Given the description of an element on the screen output the (x, y) to click on. 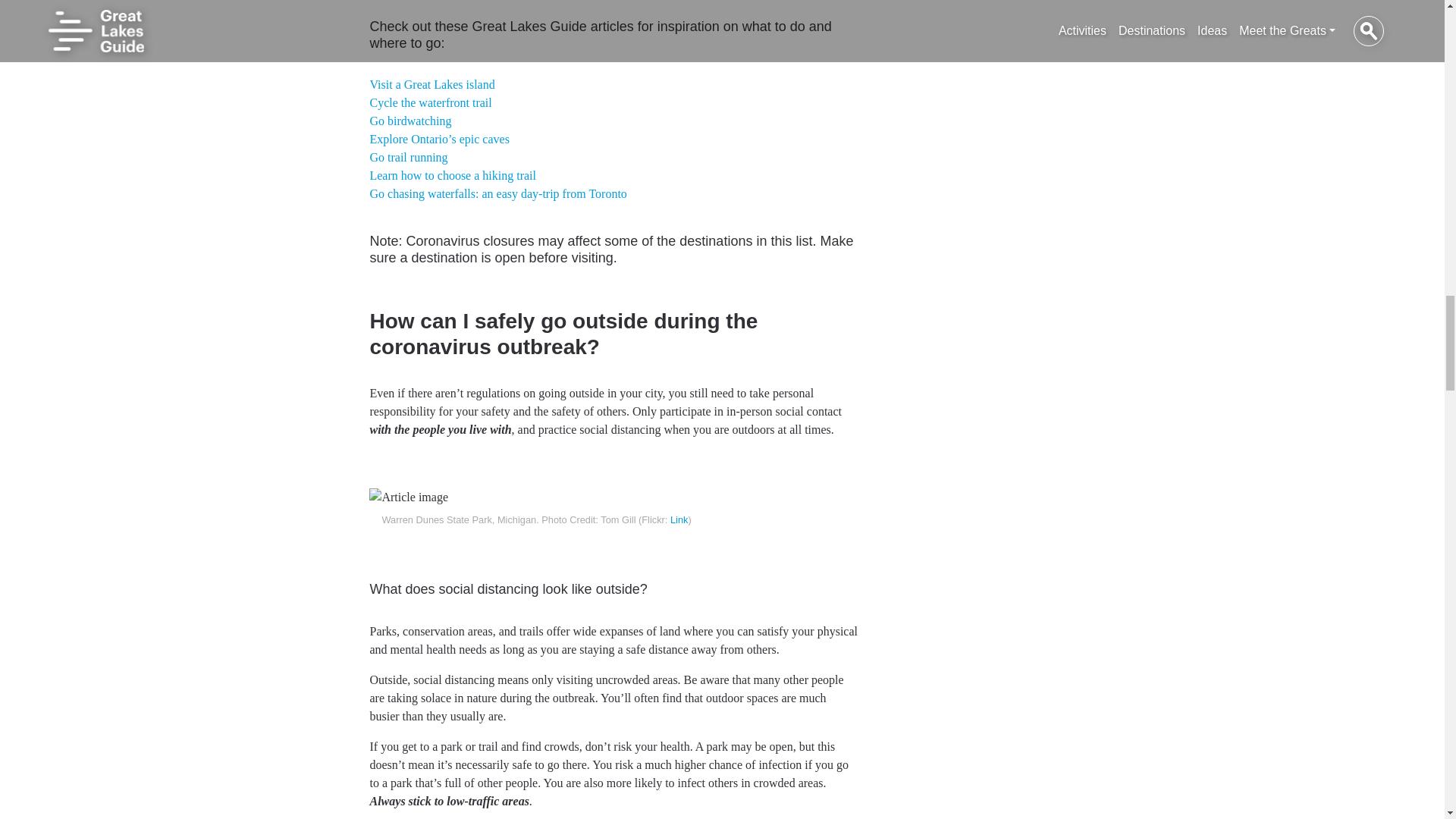
Visit a Great Lakes island (432, 83)
Go chasing waterfalls: an easy day-trip from Toronto (497, 193)
Learn how to choose a hiking trail (452, 174)
Go birdwatching (410, 120)
Cycle the waterfront trail (430, 102)
Link (678, 519)
Go trail running (407, 156)
